Given the description of an element on the screen output the (x, y) to click on. 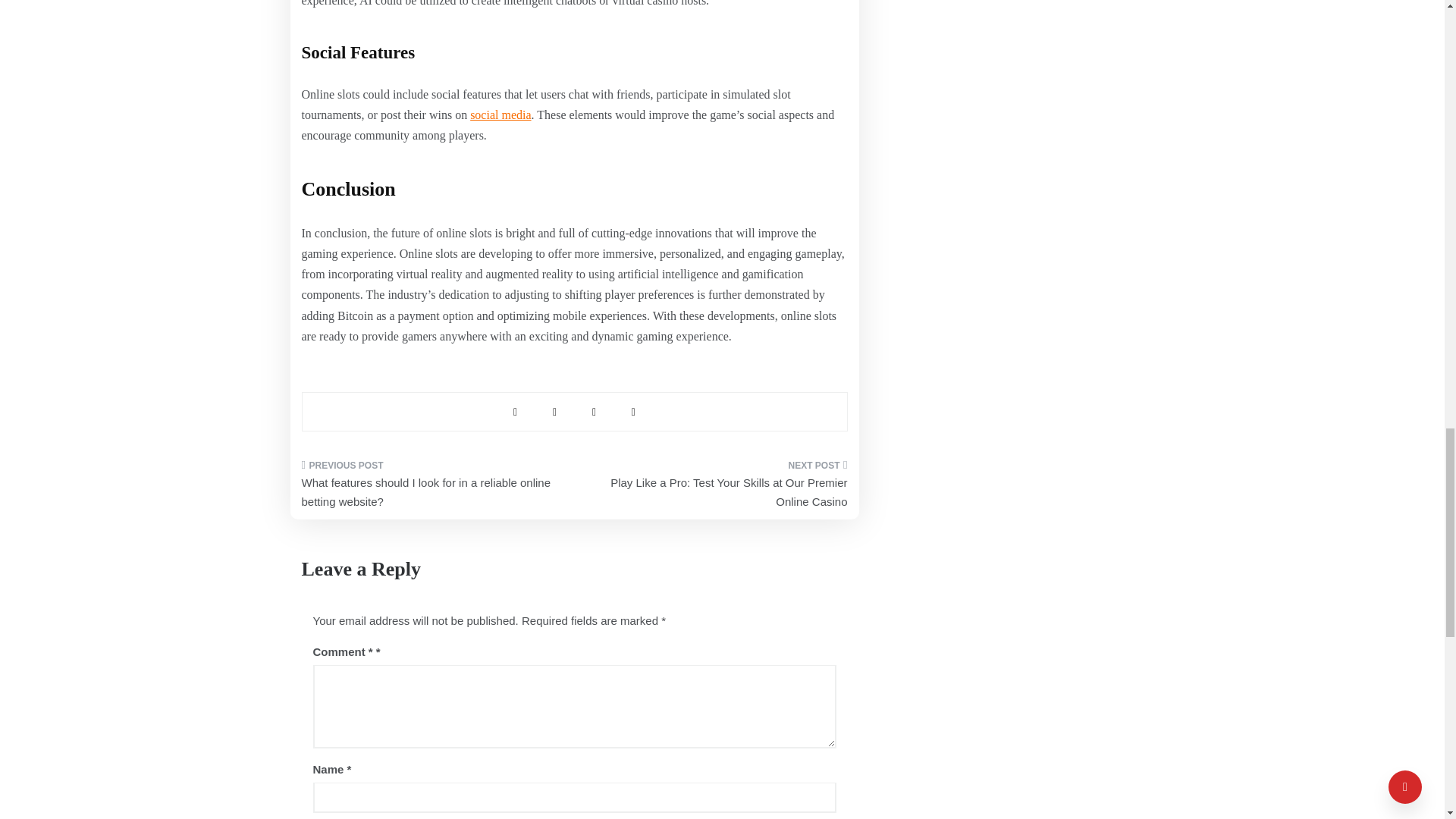
social media (500, 114)
